Given the description of an element on the screen output the (x, y) to click on. 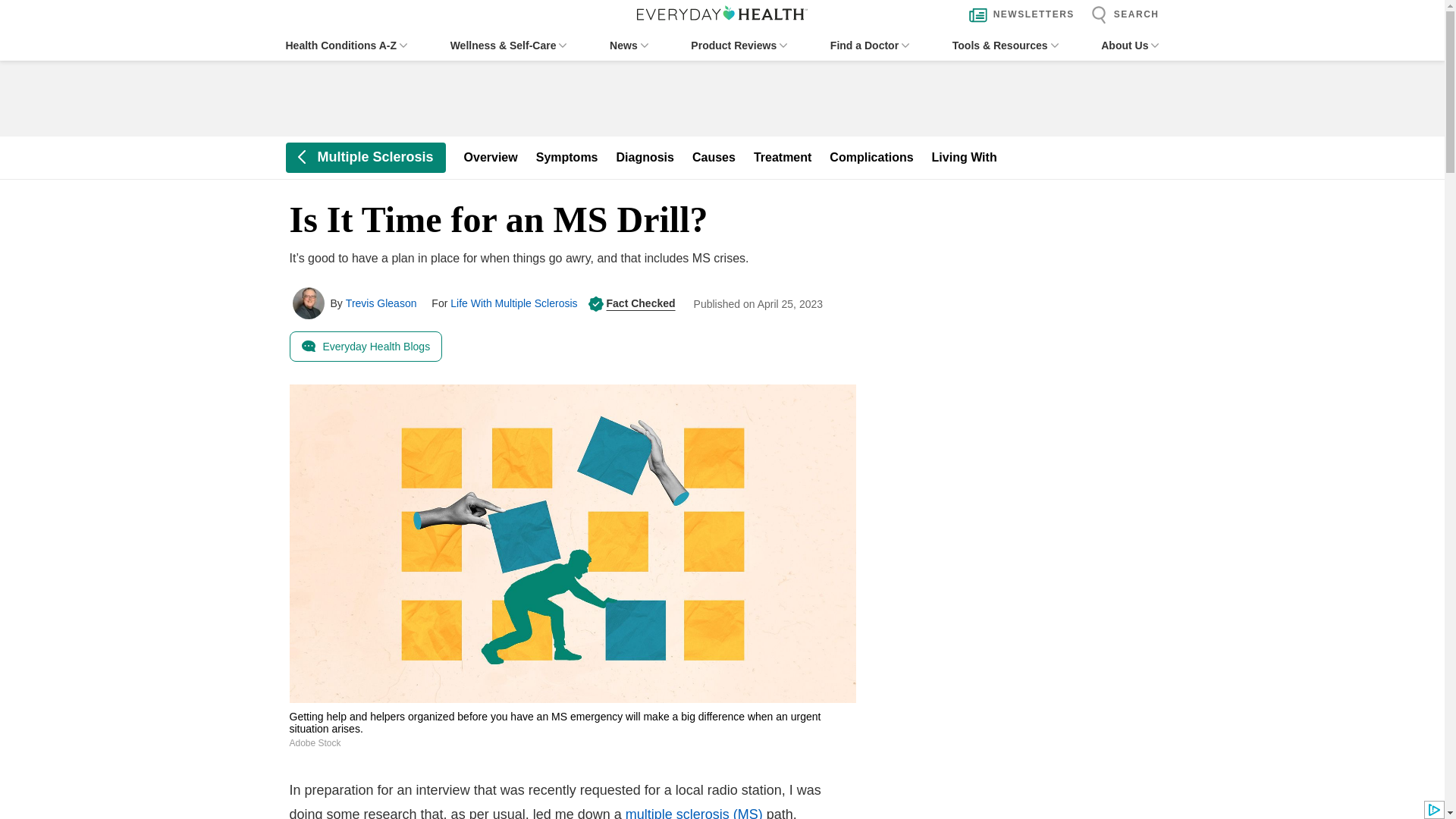
NEWSLETTERS (1018, 15)
Health Conditions A-Z (345, 45)
SEARCH (1120, 15)
About Us (1129, 45)
Find a Doctor (868, 45)
News (628, 45)
Product Reviews (738, 45)
